Given the description of an element on the screen output the (x, y) to click on. 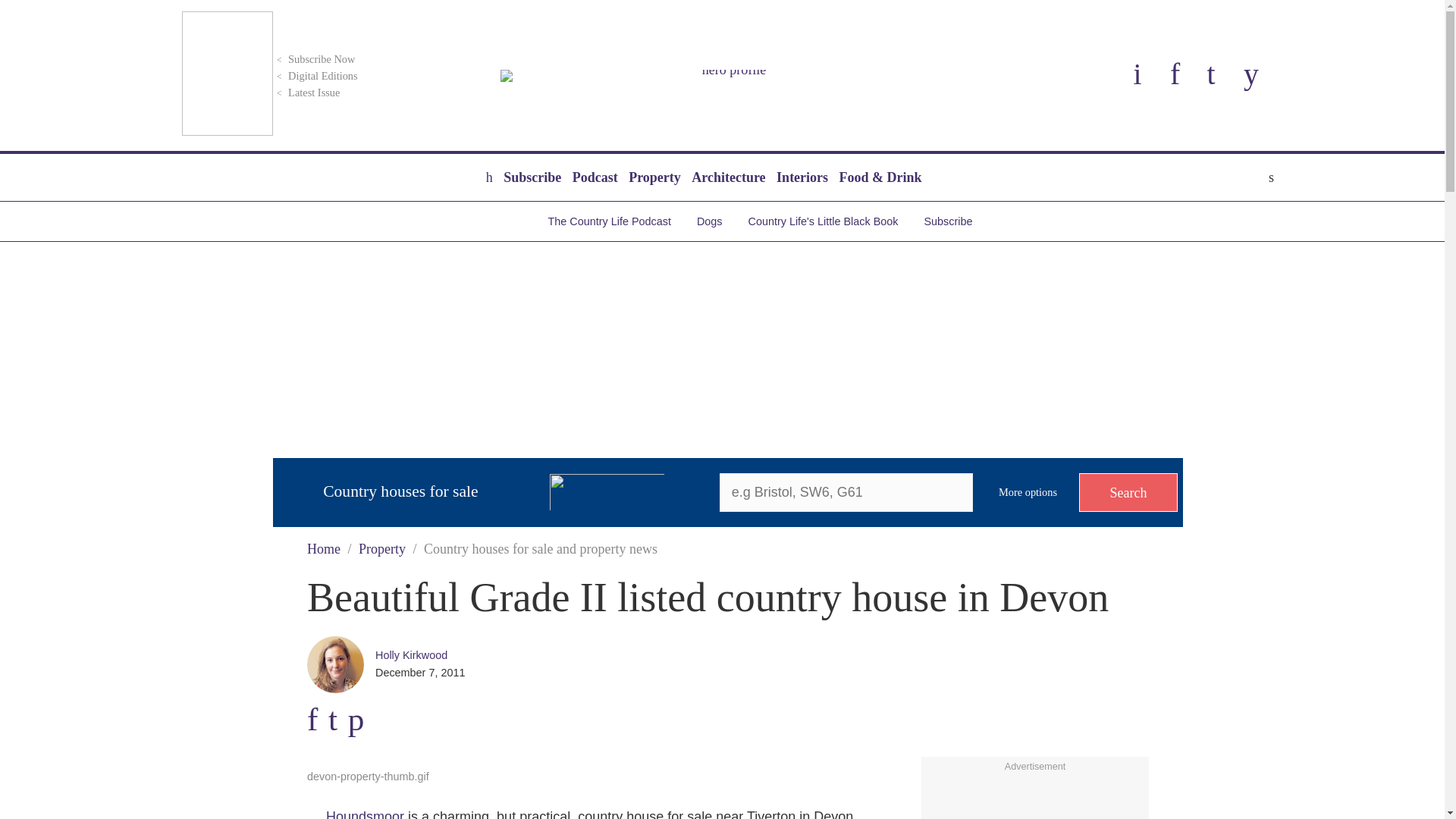
Latest Issue (306, 92)
Property (654, 176)
Interiors (802, 176)
Subscribe Now (314, 59)
Digital Editions (315, 75)
Country Life (727, 75)
Architecture (727, 176)
Subscribe (531, 176)
Podcast (595, 176)
